Given the description of an element on the screen output the (x, y) to click on. 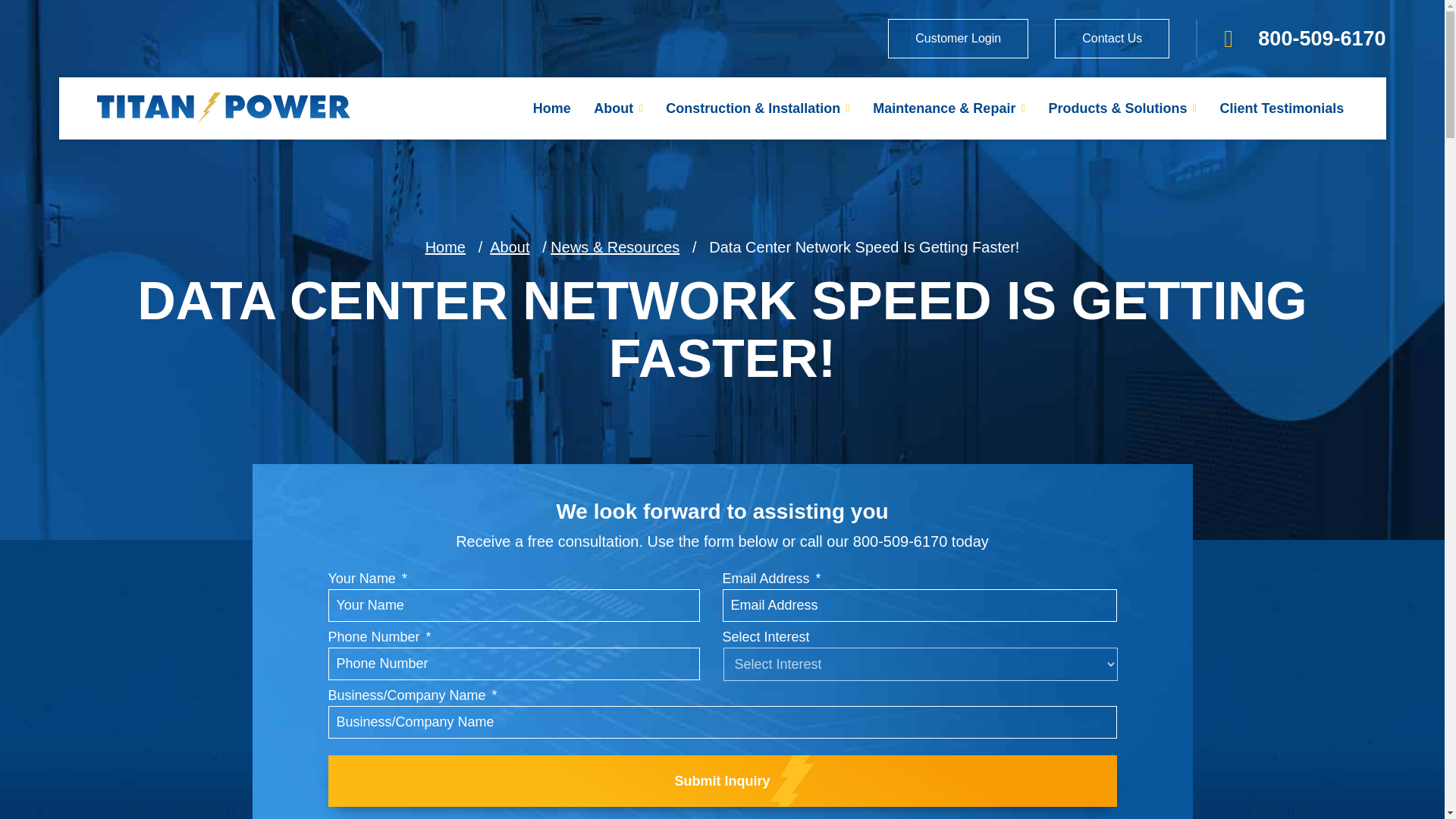
Client Testimonials (1281, 108)
About (617, 38)
Home (551, 30)
Submit Inquiry (721, 780)
